Given the description of an element on the screen output the (x, y) to click on. 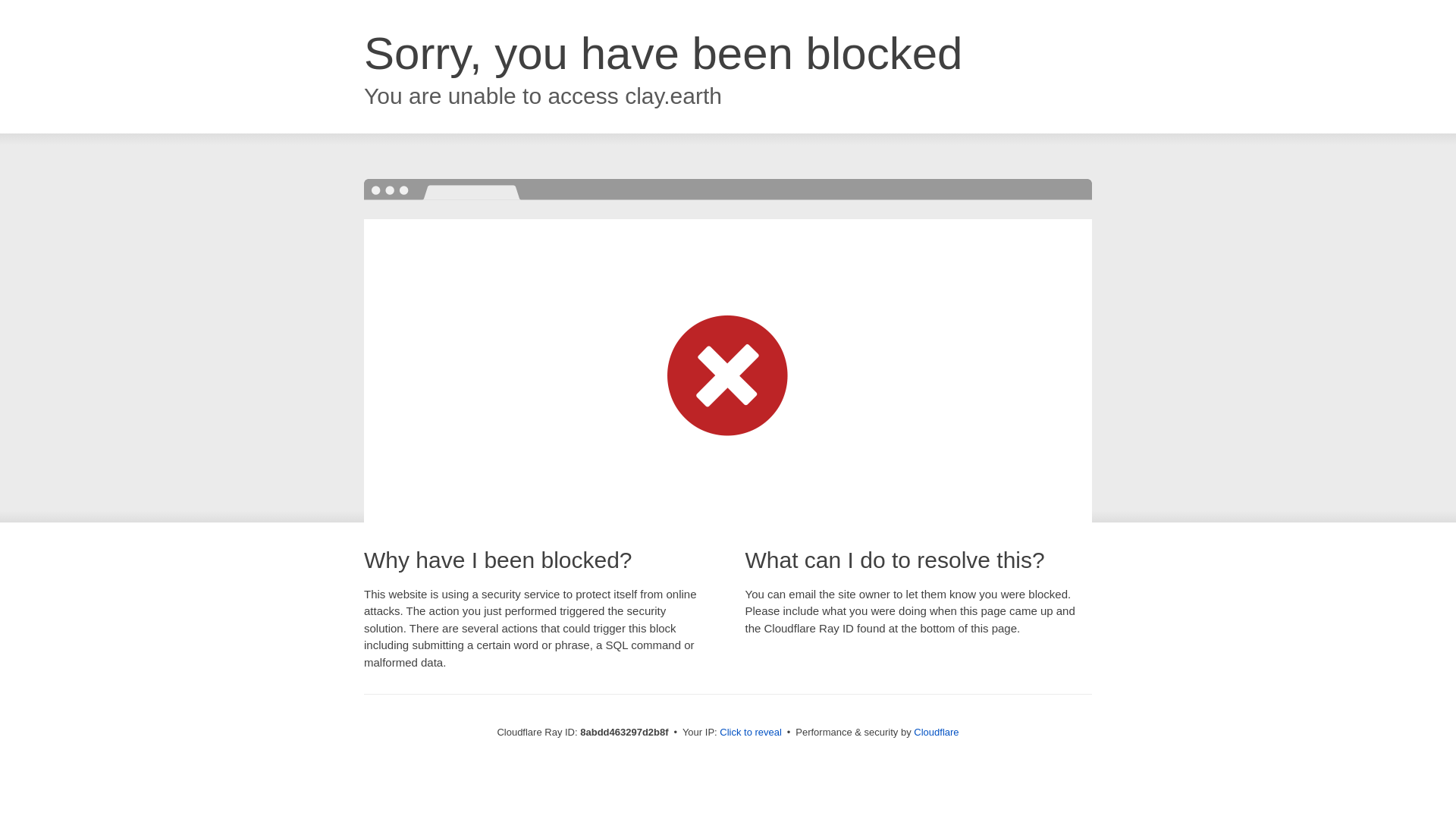
Cloudflare (936, 731)
Click to reveal (750, 732)
